Given the description of an element on the screen output the (x, y) to click on. 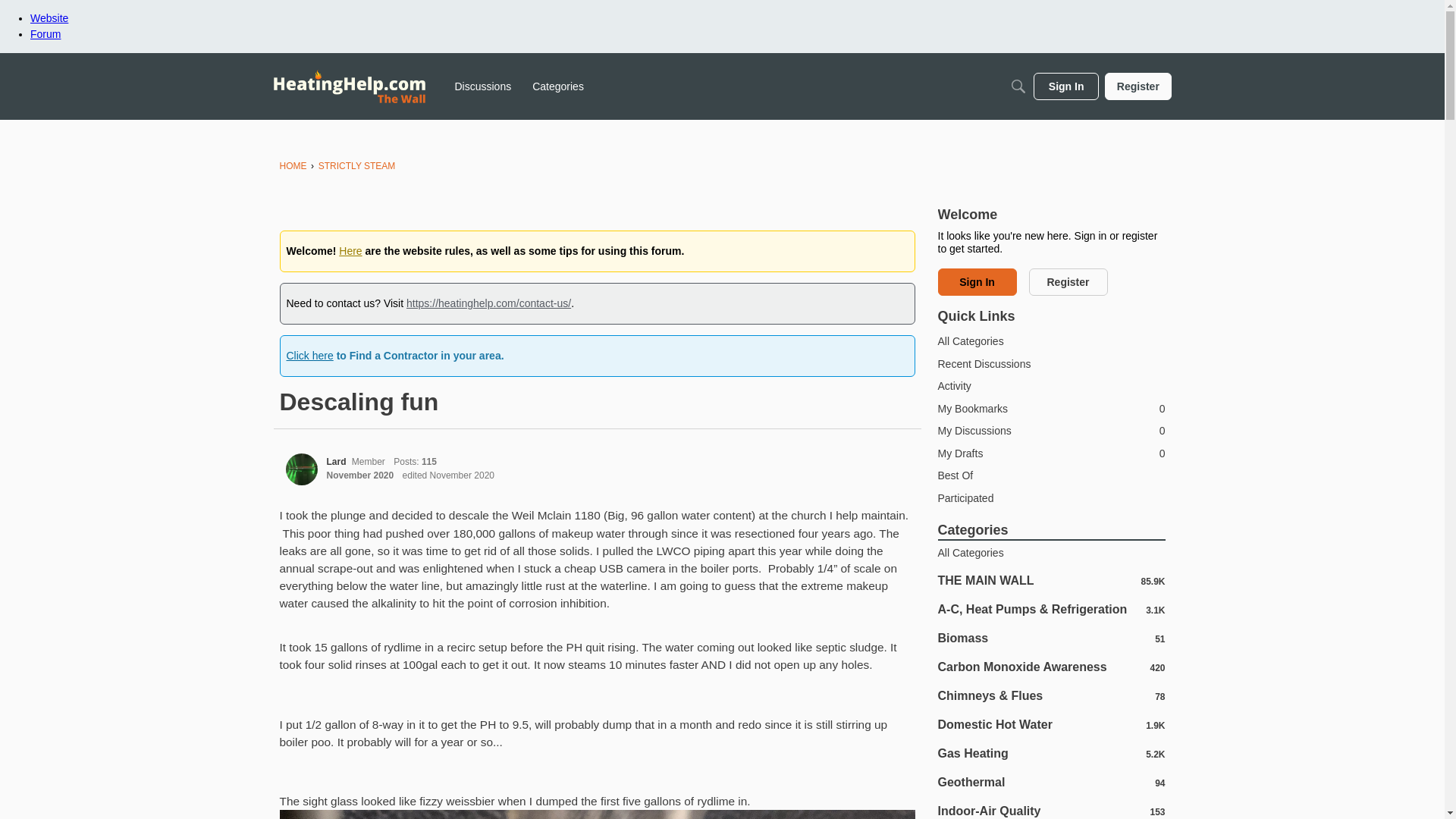
Lard (301, 469)
Lard (336, 461)
Discussions (483, 85)
Search (1018, 85)
Register (1137, 85)
November 2020 (359, 475)
Here (350, 250)
Click here (309, 355)
Sign In (1066, 85)
HOME (292, 165)
